Given the description of an element on the screen output the (x, y) to click on. 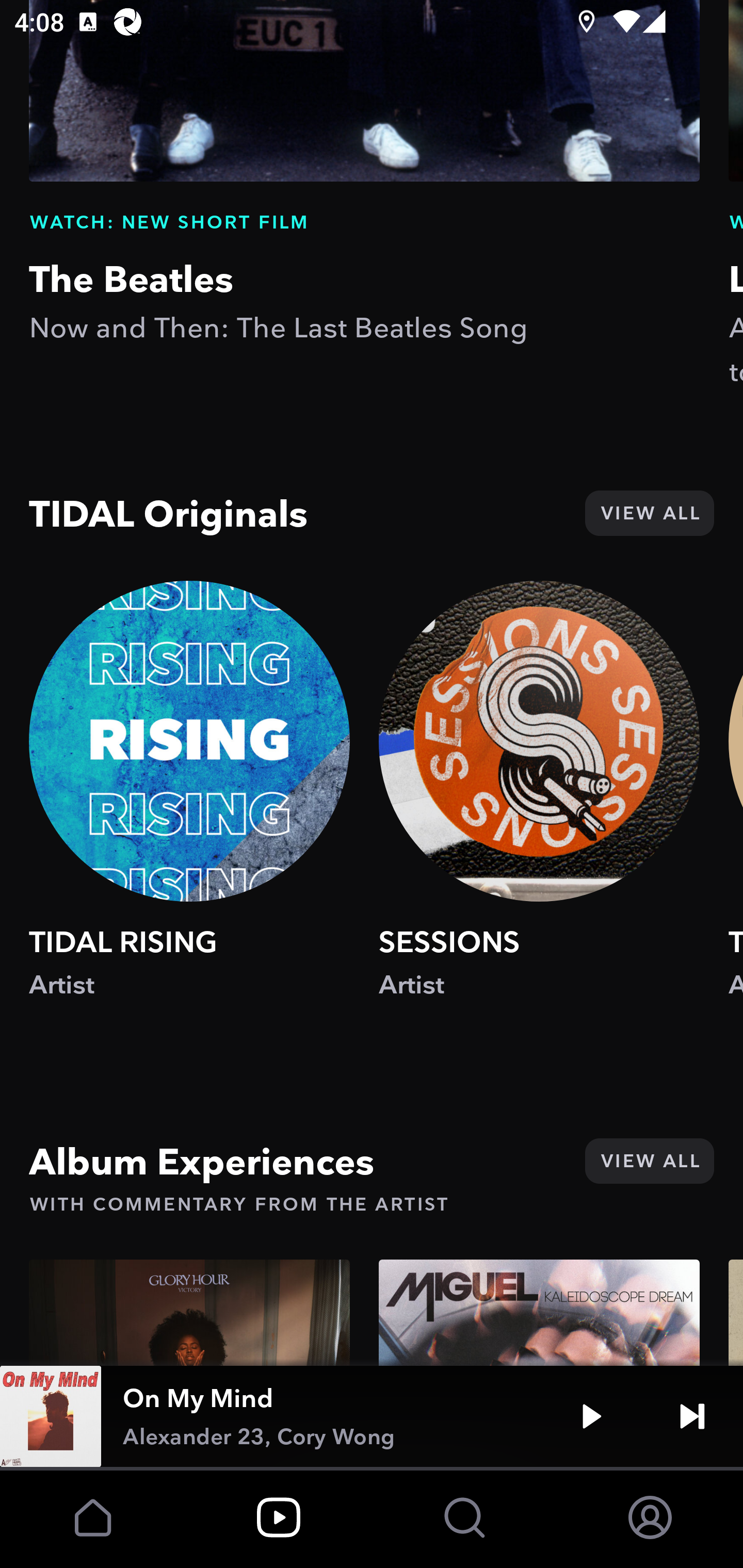
VIEW ALL (649, 513)
TIDAL RISING Artist (188, 809)
SESSIONS Artist (538, 809)
VIEW ALL (649, 1160)
On My Mind Alexander 23, Cory Wong Play (371, 1416)
Play (590, 1416)
